Given the description of an element on the screen output the (x, y) to click on. 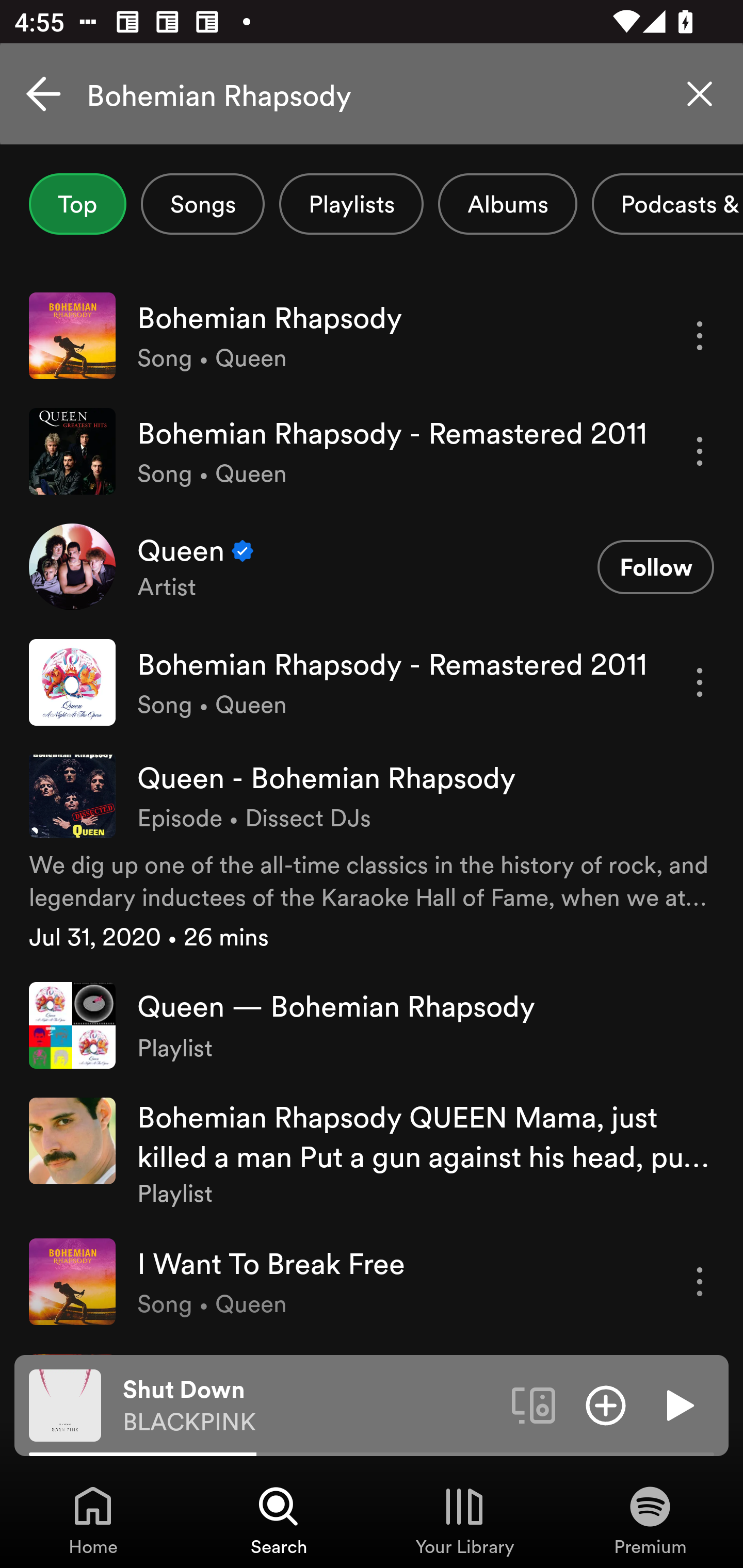
Bohemian Rhapsody (371, 93)
Cancel (43, 93)
Clear search query (699, 93)
Top (77, 203)
Songs (202, 203)
Playlists (351, 203)
Albums (507, 203)
Podcasts & Shows (667, 203)
More options for song Bohemian Rhapsody (699, 336)
Queen Verified Artist Follow Follow (371, 566)
Follow (655, 566)
Queen — Bohemian Rhapsody Playlist (371, 1025)
More options for song I Want To Break Free (699, 1281)
Shut Down BLACKPINK (309, 1405)
The cover art of the currently playing track (64, 1404)
Connect to a device. Opens the devices menu (533, 1404)
Add item (605, 1404)
Play (677, 1404)
Home, Tab 1 of 4 Home Home (92, 1519)
Search, Tab 2 of 4 Search Search (278, 1519)
Your Library, Tab 3 of 4 Your Library Your Library (464, 1519)
Premium, Tab 4 of 4 Premium Premium (650, 1519)
